Given the description of an element on the screen output the (x, y) to click on. 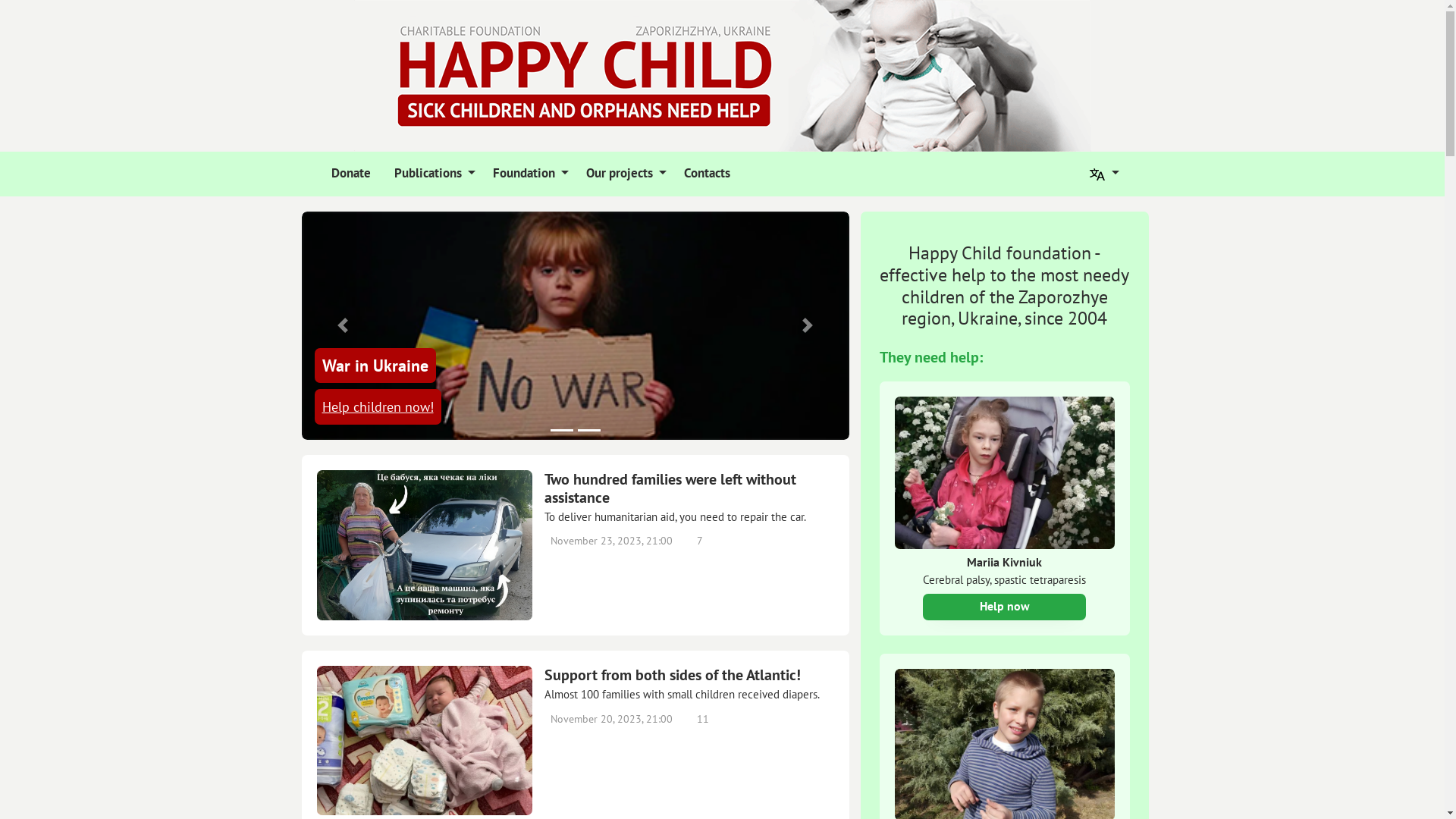
They need help: Element type: text (930, 357)
Help children now! Element type: text (376, 406)
Contacts Element type: text (704, 173)
Two hundred families were left without assistance Element type: text (689, 488)
Support from both sides of the Atlantic! Element type: text (689, 674)
Help now Element type: text (1003, 606)
Publications Element type: text (431, 173)
Our projects Element type: text (623, 173)
Previous Element type: text (342, 325)
Next Element type: text (807, 325)
Mariia Kivniuk Element type: text (1004, 562)
Donate Element type: text (347, 173)
Foundation Element type: text (527, 173)
